Given the description of an element on the screen output the (x, y) to click on. 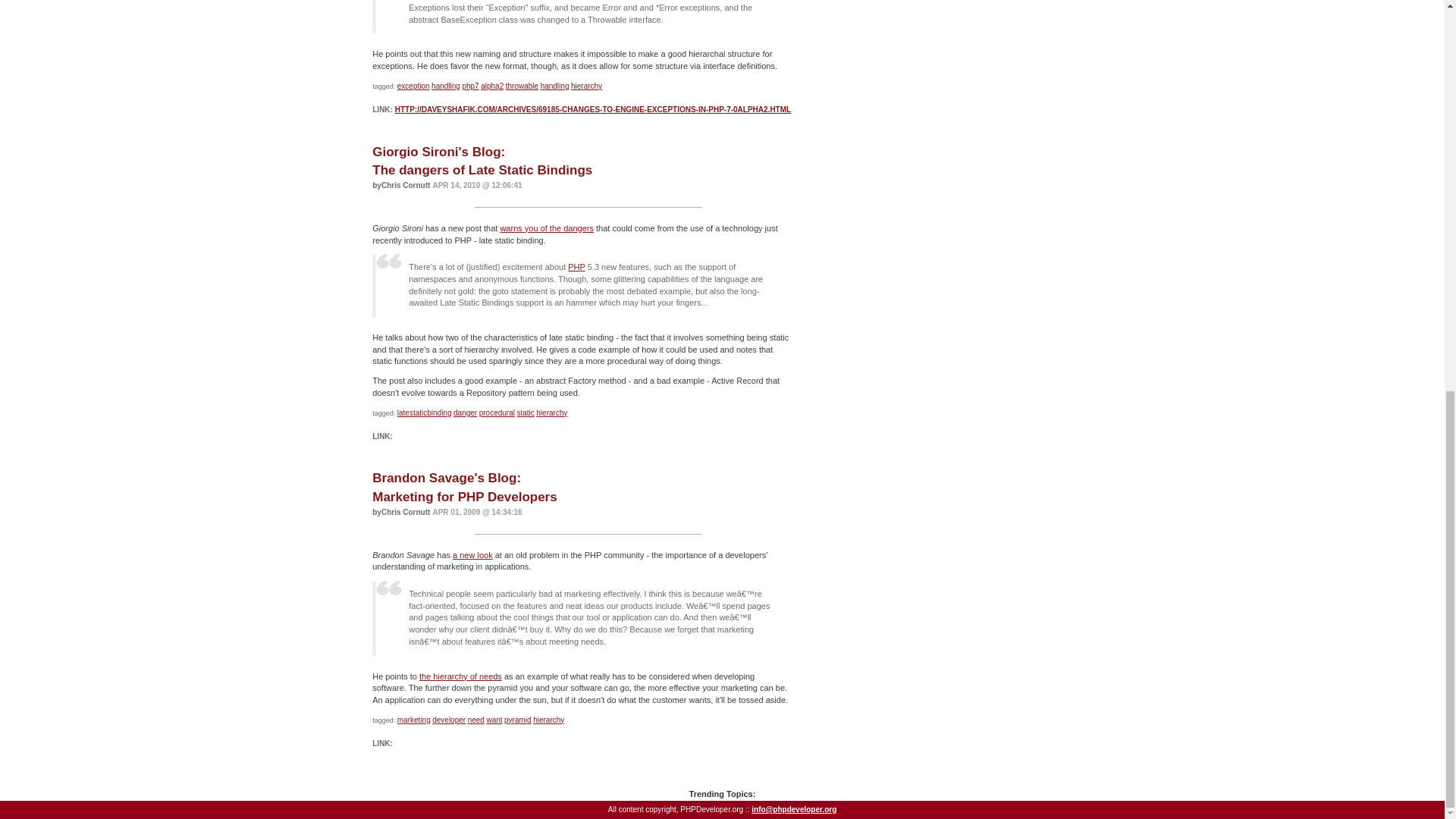
handling (554, 85)
php7 (470, 85)
handling (445, 85)
hierarchy (586, 85)
throwable (521, 85)
alpha2 (491, 85)
exception (413, 85)
